Given the description of an element on the screen output the (x, y) to click on. 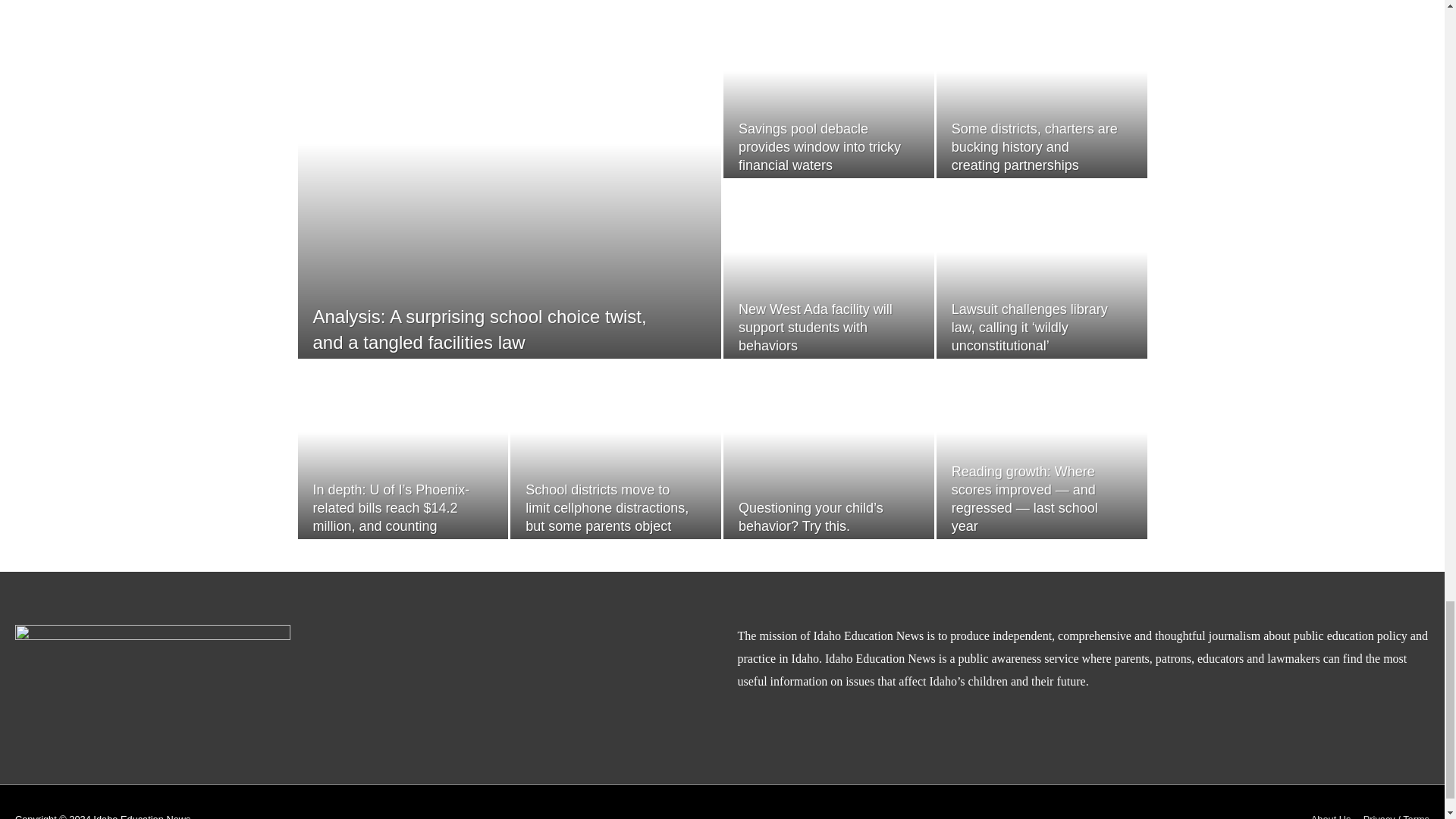
New West Ada facility will support students with behaviors (815, 327)
